Given the description of an element on the screen output the (x, y) to click on. 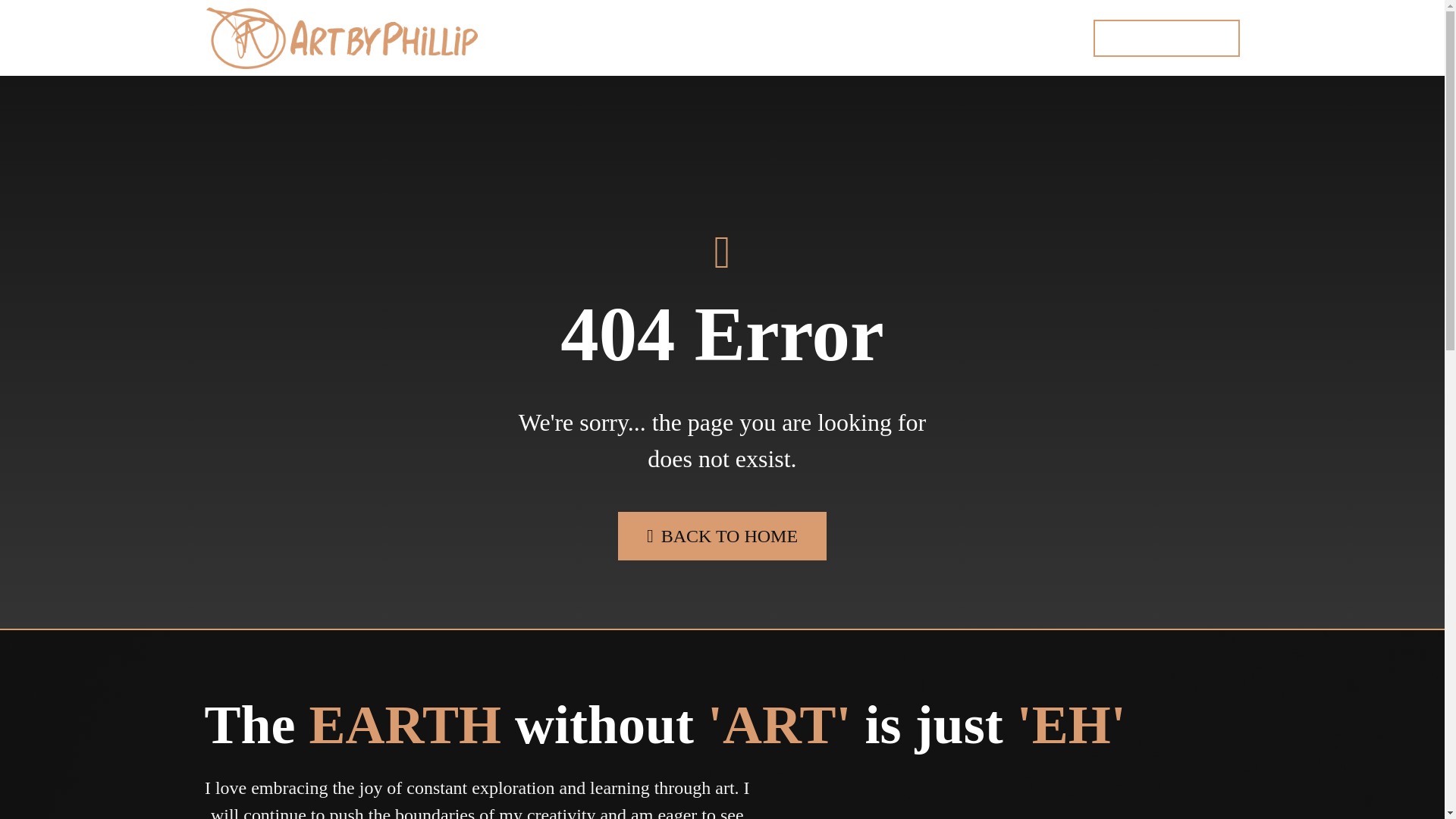
FAQ (799, 37)
CONTACT (952, 37)
Custom Order (1166, 37)
Back to Home (722, 535)
GET IT CUSTOM (1166, 37)
BACK TO HOME (722, 535)
ABOUT (865, 37)
Home (341, 37)
PORTFOLIO (717, 37)
DIGITAL ART (600, 37)
